Given the description of an element on the screen output the (x, y) to click on. 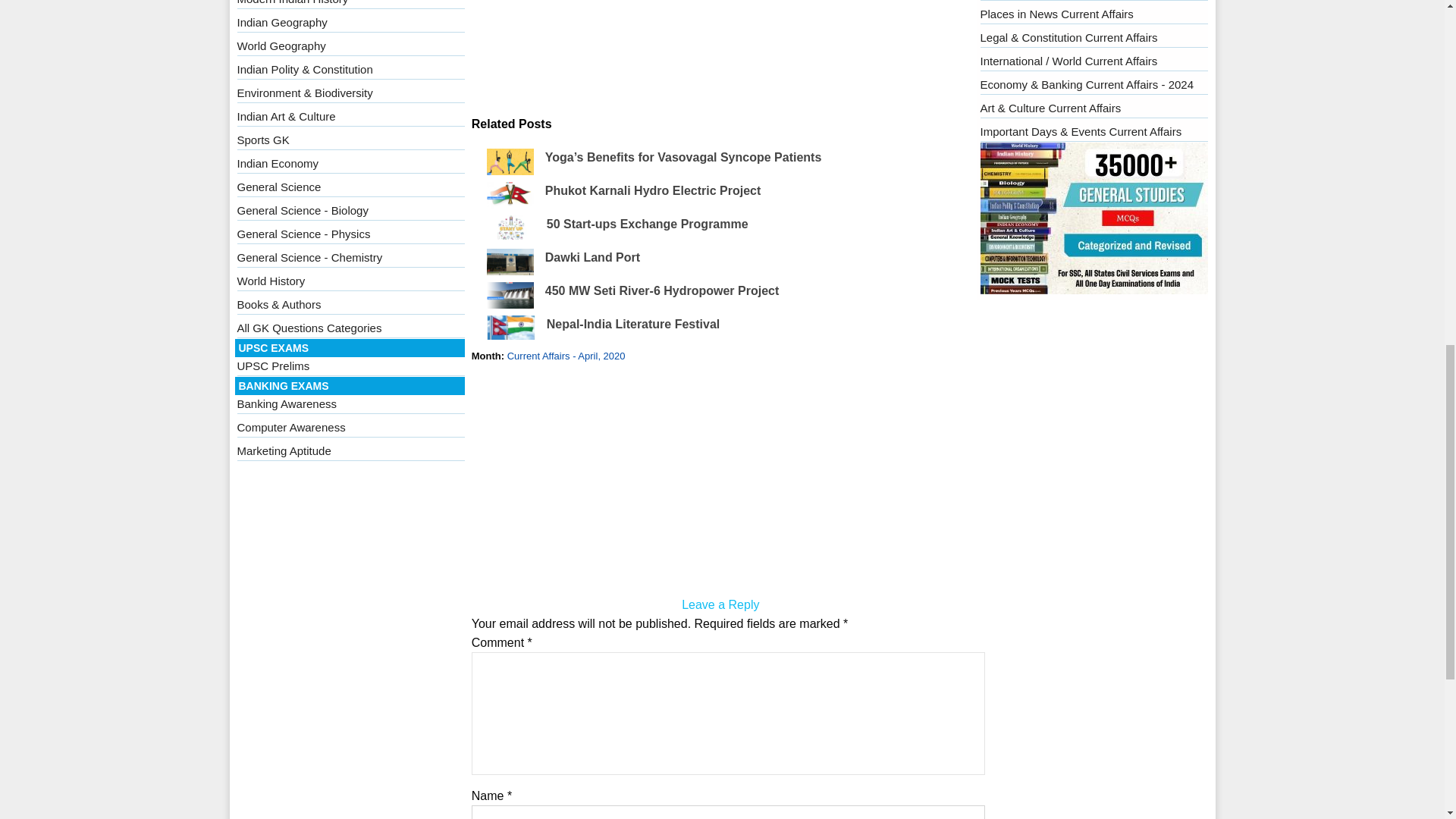
Advertisement (720, 57)
Phukot Karnali Hydro Electric Project (652, 190)
50 Start-ups Exchange Programme (647, 223)
450 MW Seti River-6 Hydropower Project (661, 290)
Dawki Land Port (592, 256)
Nepal-India Literature Festival (633, 323)
450 MW Seti River-6 Hydropower Project (661, 290)
50 Start-ups Exchange Programme (647, 223)
Advertisement (720, 481)
Nepal-India Literature Festival (633, 323)
Dawki Land Port (592, 256)
Current Affairs - April, 2020 (566, 355)
Phukot Karnali Hydro Electric Project (652, 190)
